Given the description of an element on the screen output the (x, y) to click on. 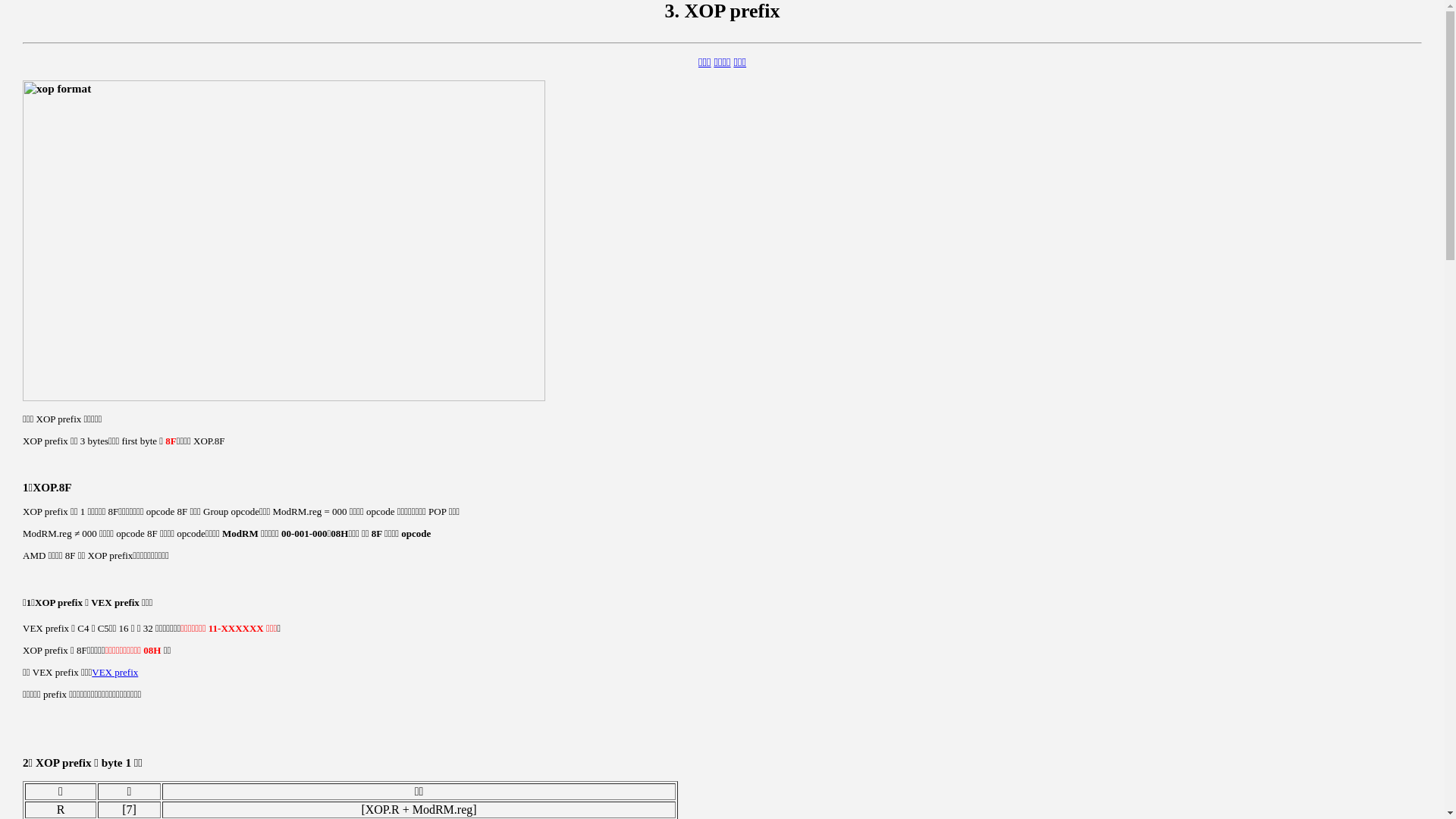
VEX prefix Element type: text (114, 671)
